Given the description of an element on the screen output the (x, y) to click on. 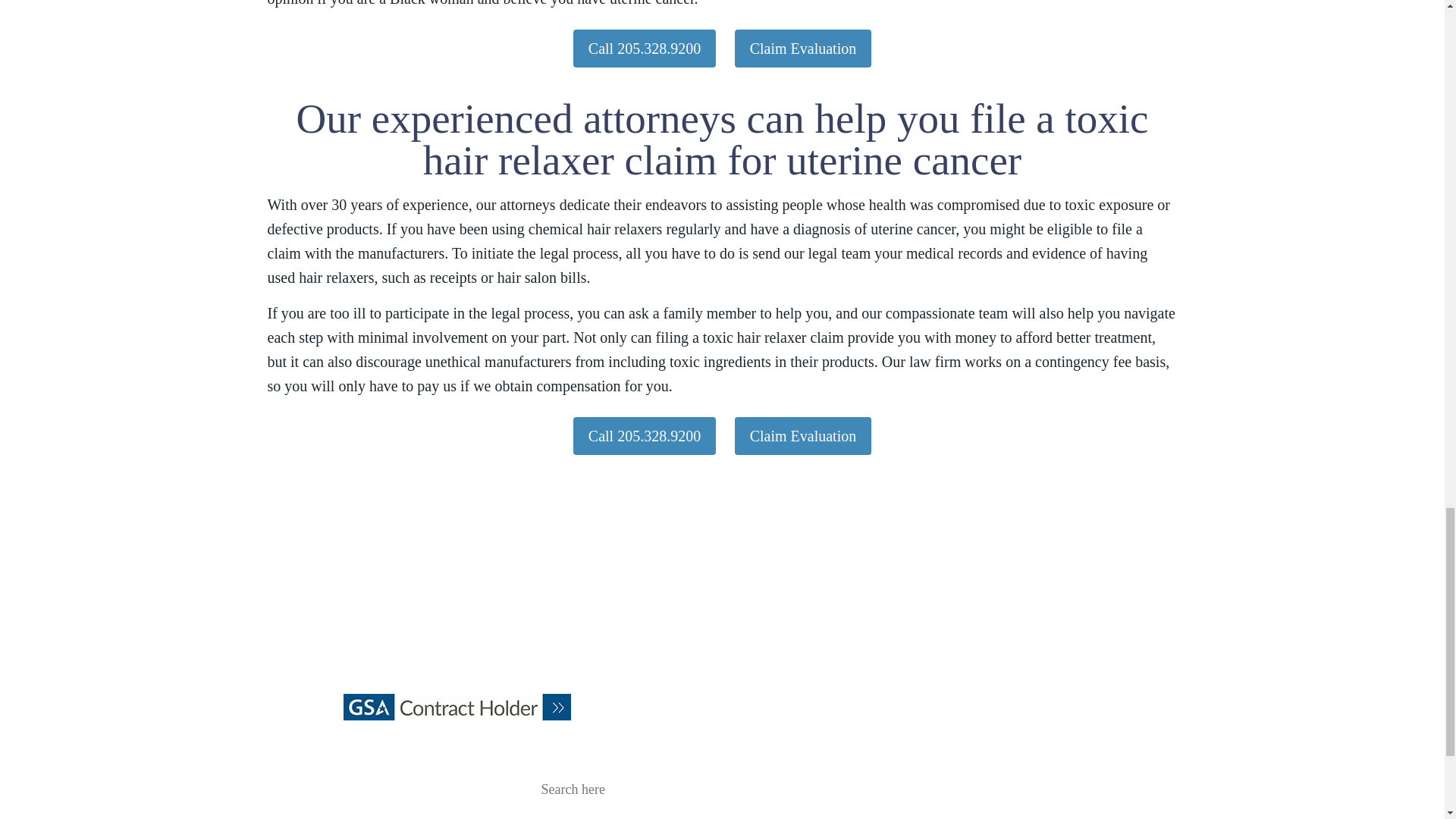
Call 205.328.9200 (644, 435)
Claim Evaluation (803, 435)
Claim Evaluation (803, 48)
Call 205.328.9200 (644, 48)
